Given the description of an element on the screen output the (x, y) to click on. 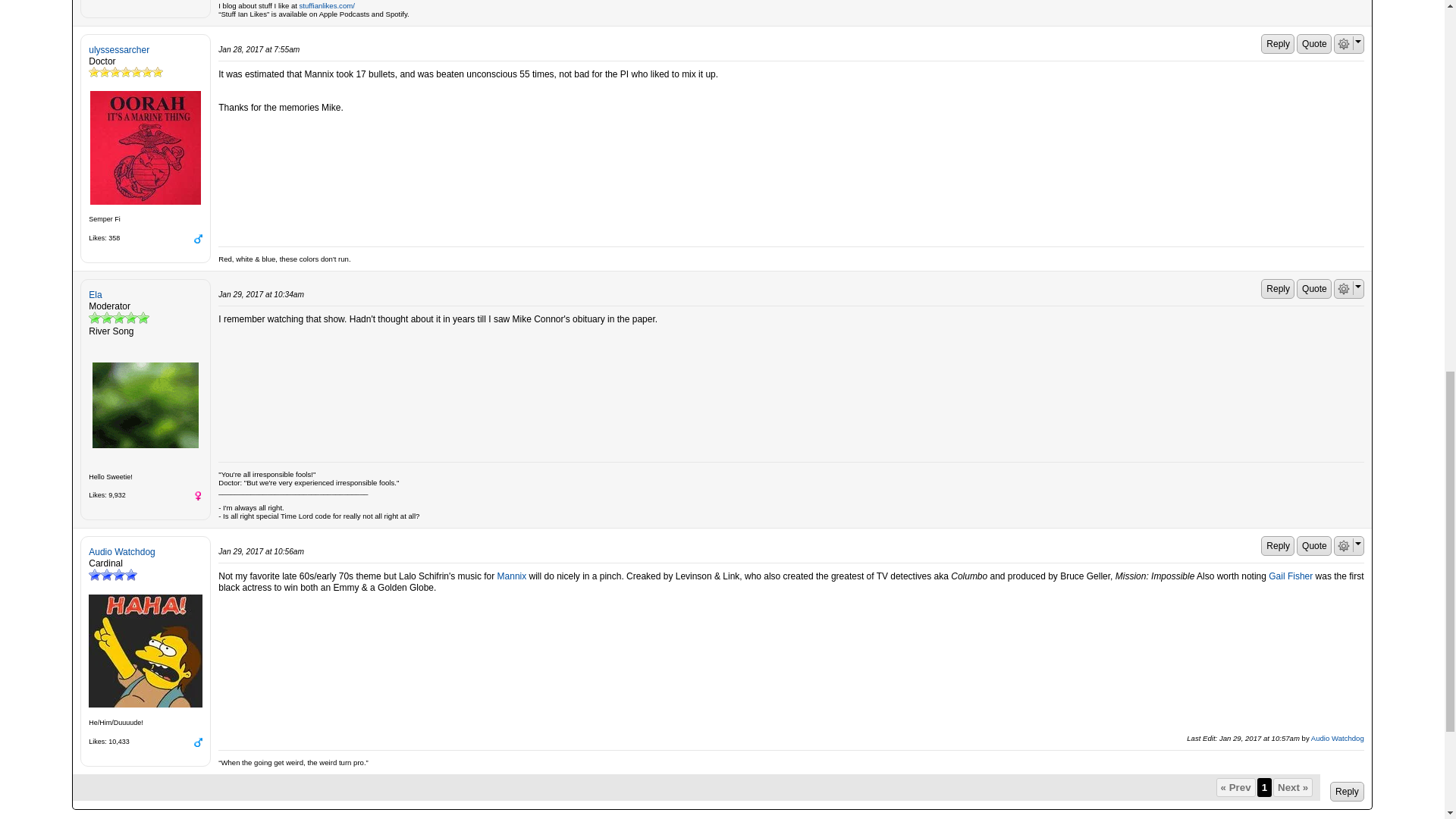
ulyssessarcher (145, 147)
Male (197, 238)
